Given the description of an element on the screen output the (x, y) to click on. 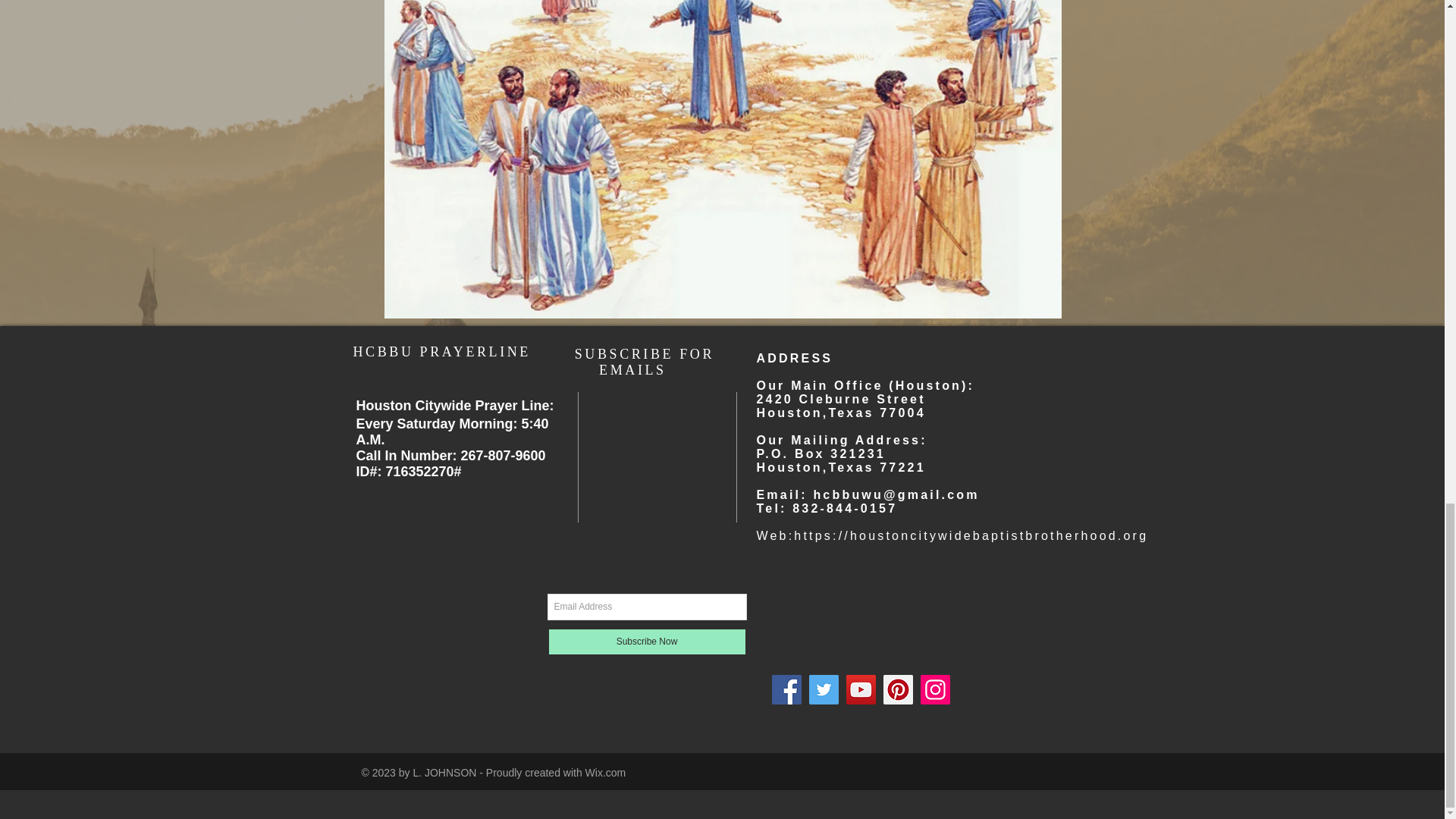
Subscribe Now (646, 642)
